Given the description of an element on the screen output the (x, y) to click on. 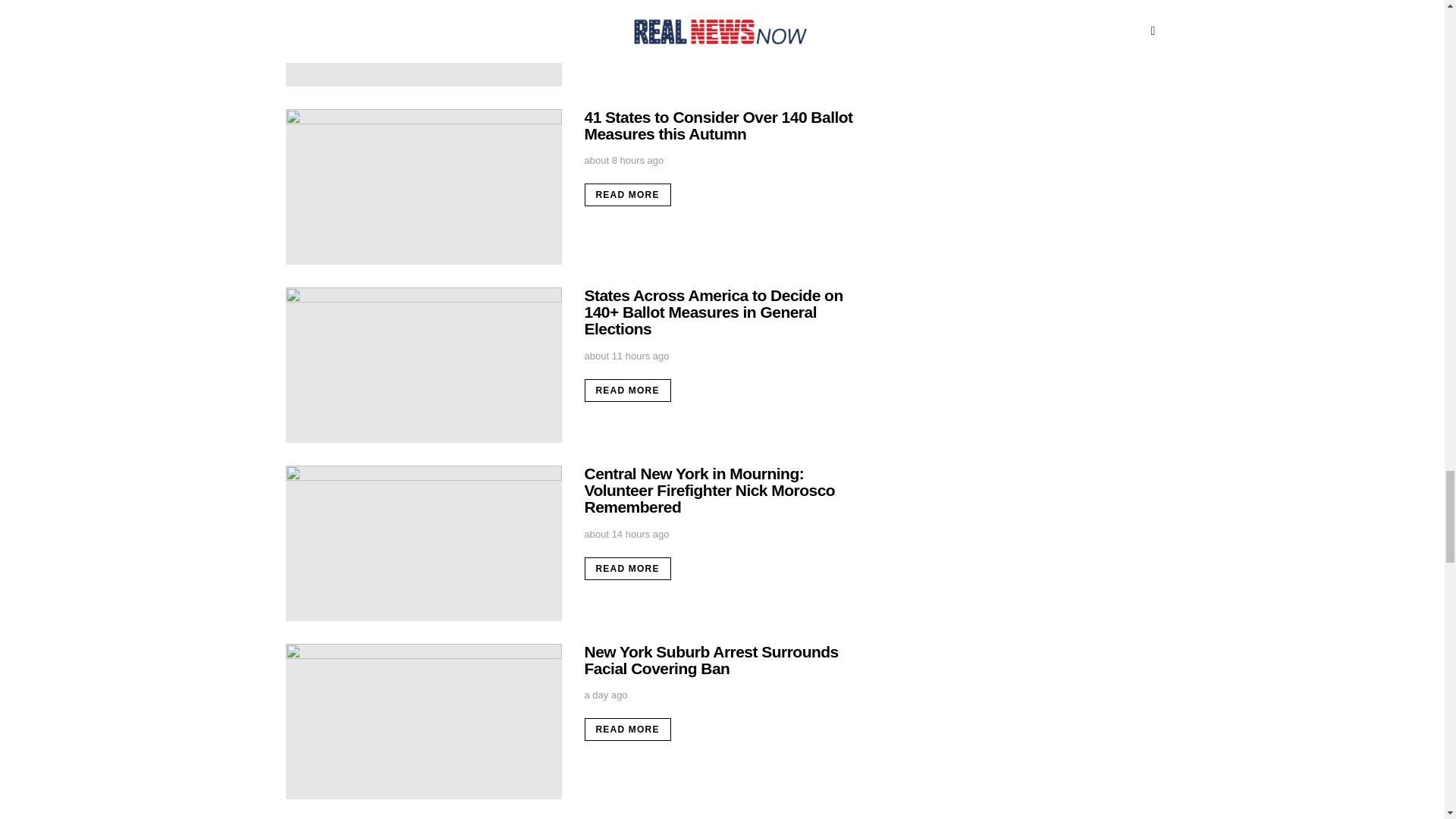
READ MORE (626, 729)
READ MORE (626, 15)
READ MORE (626, 390)
READ MORE (626, 568)
READ MORE (626, 194)
New York Suburb Arrest Surrounds Facial Covering Ban (710, 659)
41 States to Consider Over 140 Ballot Measures this Autumn (717, 125)
